Given the description of an element on the screen output the (x, y) to click on. 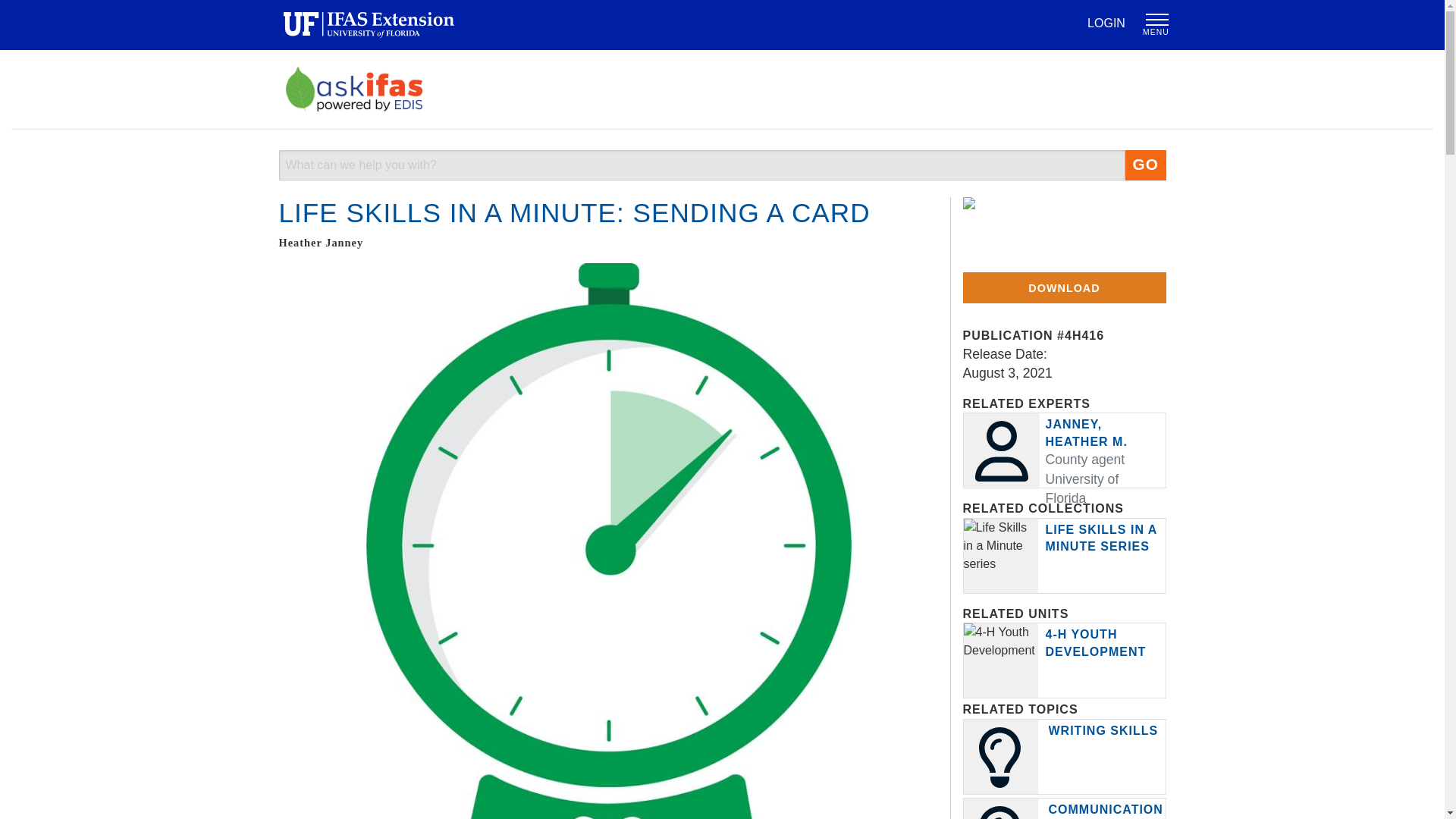
Life Skills in a Minute series (1100, 537)
4-H YOUTH DEVELOPMENT (1095, 642)
Communication Skills (1104, 810)
LOGIN (1106, 22)
4-H Youth Development (1095, 642)
GO (1145, 164)
Writing Skills (1102, 729)
Janney, Heather M. (1085, 432)
WRITING SKILLS (1102, 729)
EDIS Search (702, 164)
Peer Reviewed (1038, 229)
COMMUNICATION SKILLS (1104, 810)
DOWNLOAD (1064, 287)
Download (1064, 287)
